Given the description of an element on the screen output the (x, y) to click on. 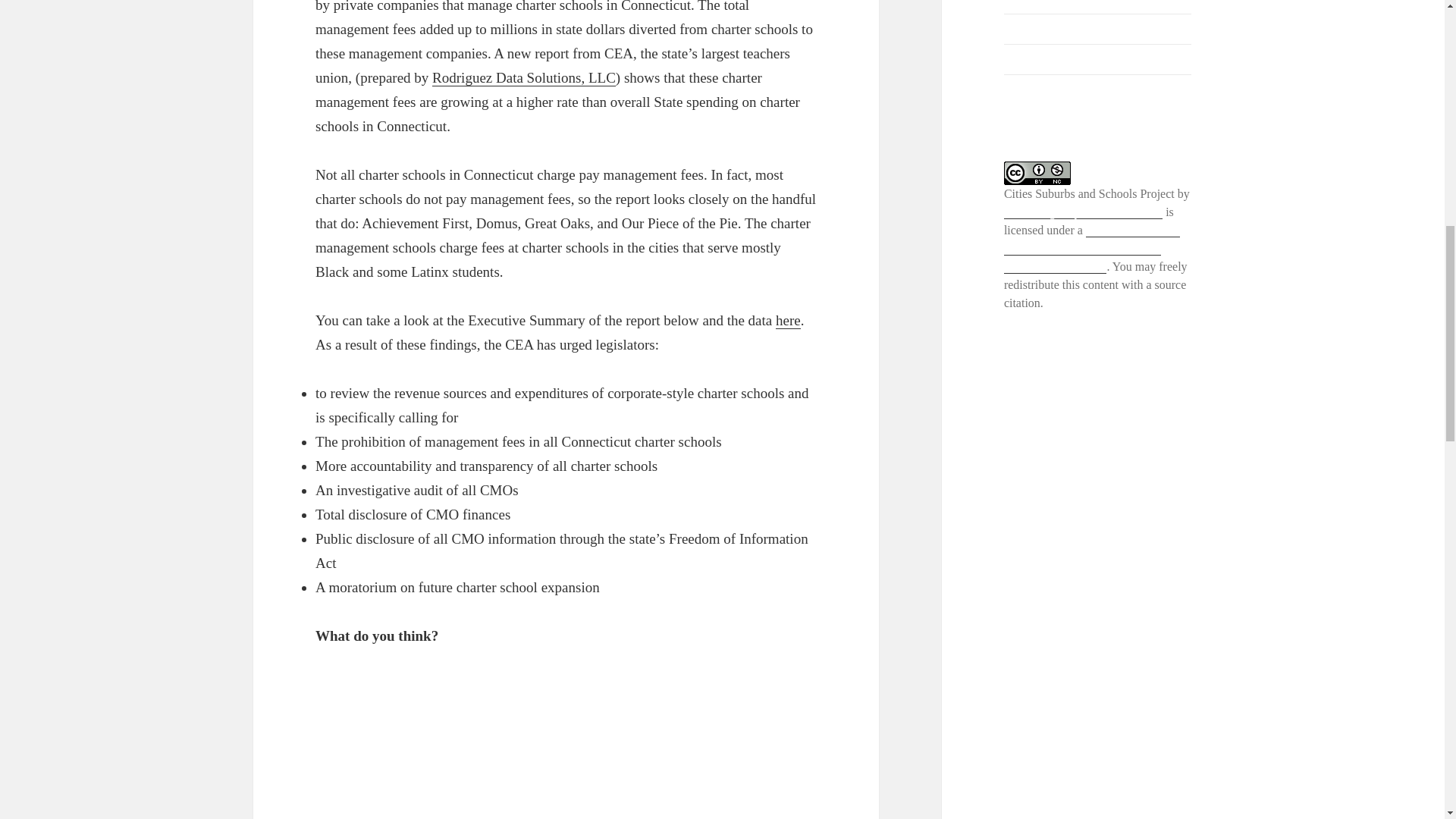
Jack Dougherty and contributors (1082, 212)
WordPress.org (1039, 88)
Entries feed (1033, 28)
Comments feed (1042, 58)
here (788, 320)
Log in (1019, 2)
Rodriguez Data Solutions, LLC (523, 77)
